Given the description of an element on the screen output the (x, y) to click on. 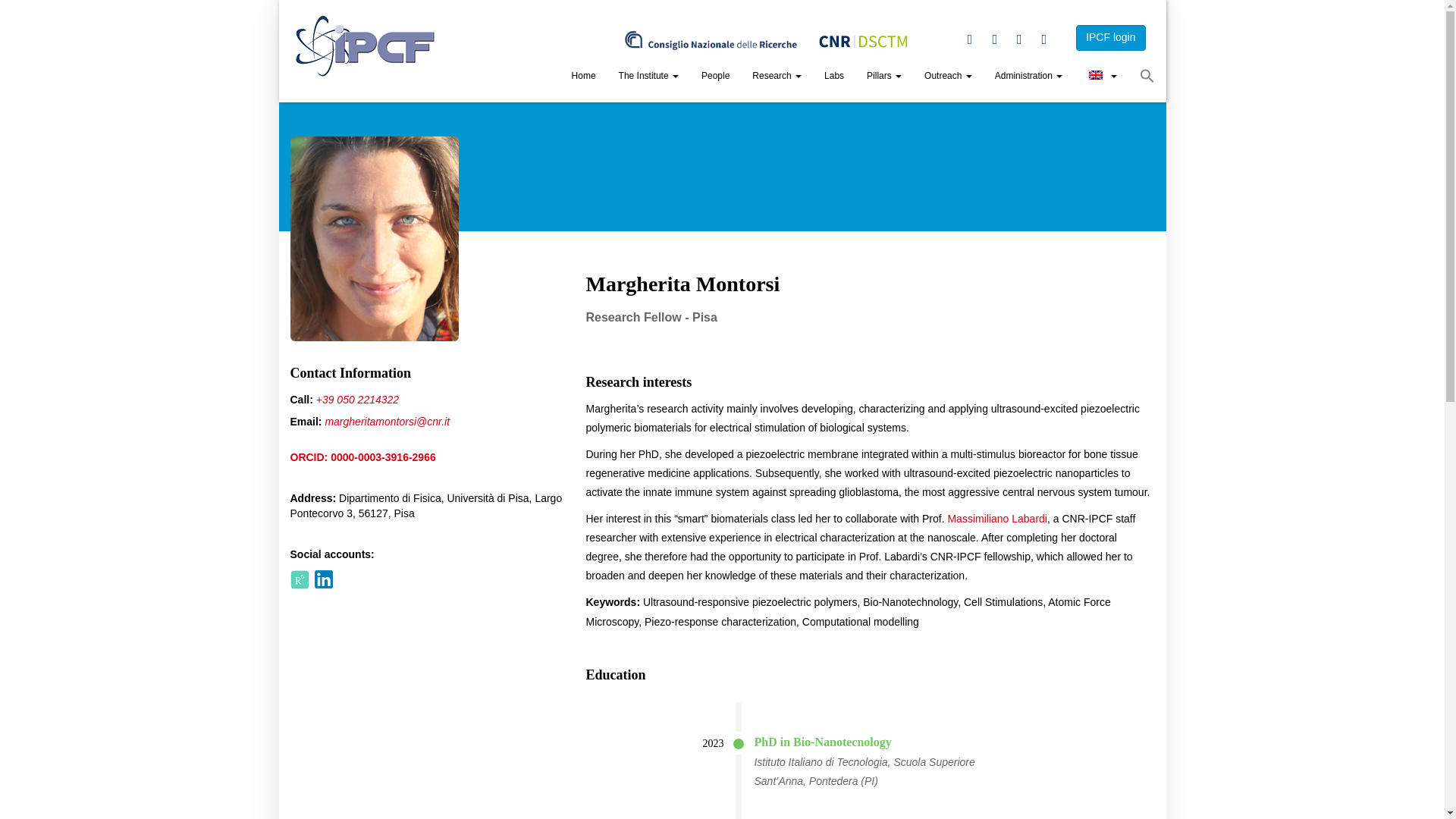
The Institute (648, 76)
Labs (834, 76)
Research (776, 76)
The Institute (648, 76)
Research (776, 76)
IPCF (365, 46)
Home (583, 76)
Pillars (884, 76)
Home (583, 76)
People (715, 76)
